Given the description of an element on the screen output the (x, y) to click on. 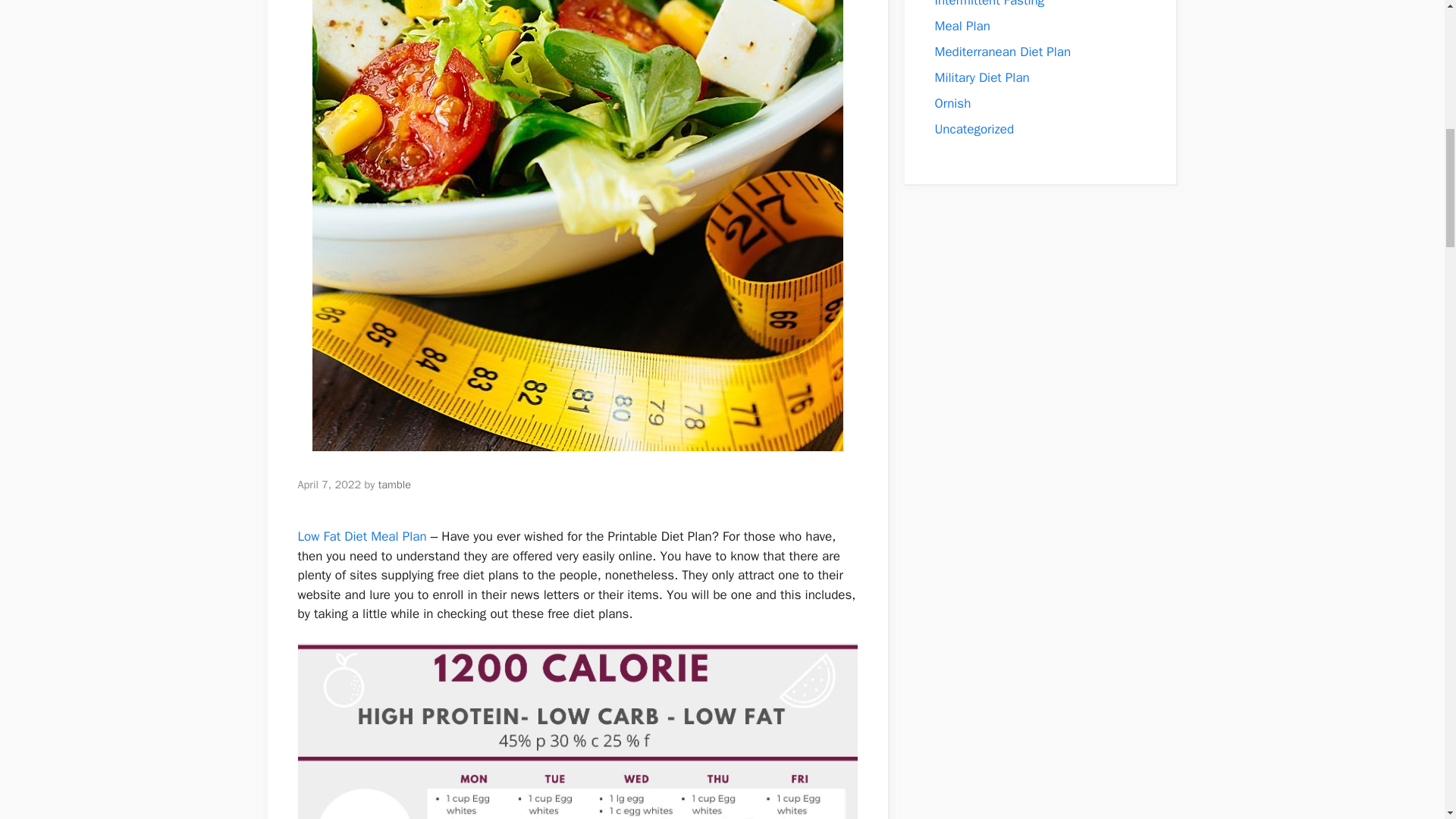
Low Fat Diet Meal Plan (361, 536)
View all posts by tamble (394, 484)
tamble (394, 484)
